Given the description of an element on the screen output the (x, y) to click on. 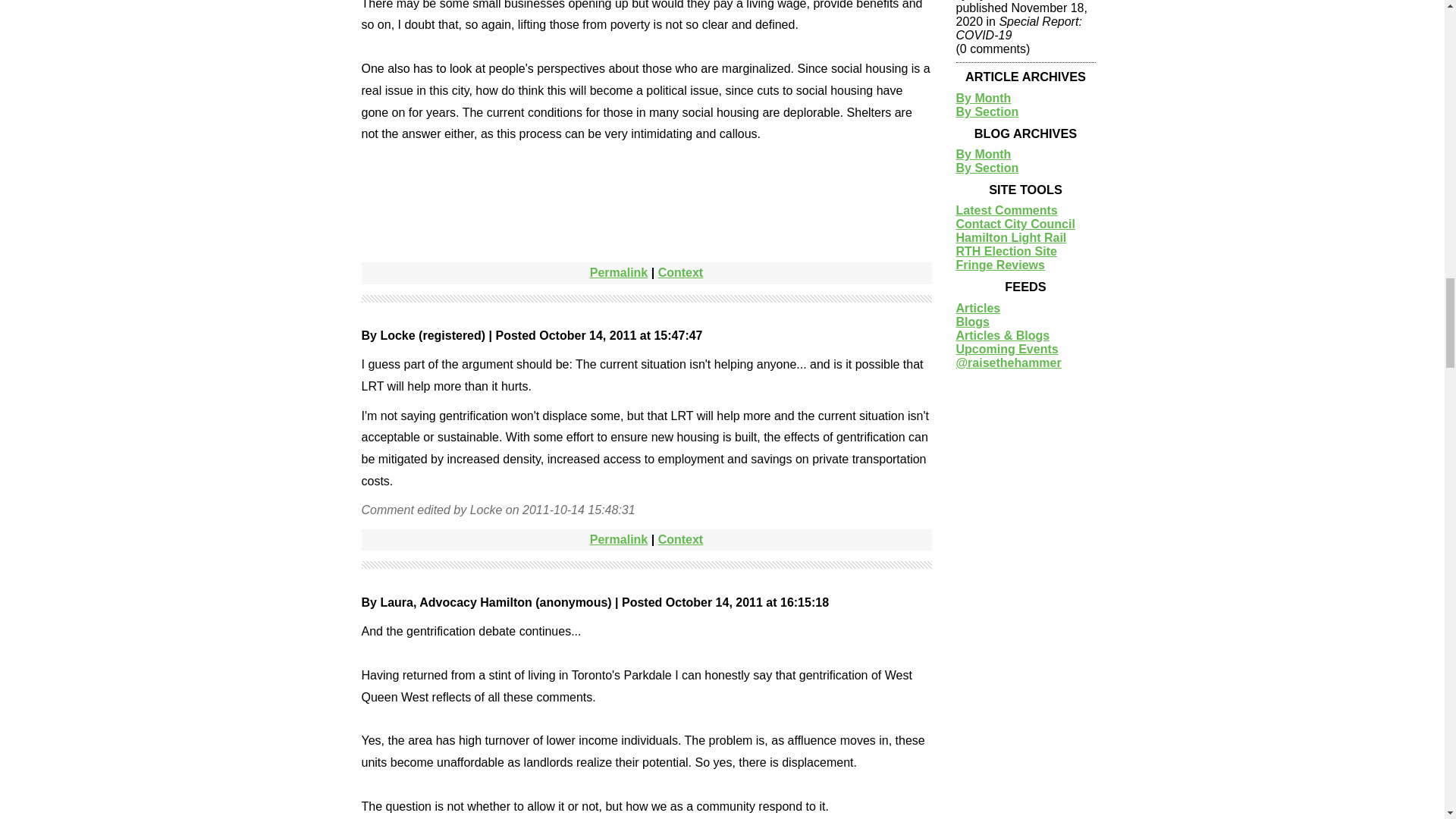
Context (680, 272)
Permalink (618, 272)
Permalink (618, 539)
Link to this comment in the comment thread (680, 272)
Context (680, 539)
Permanent URL for this comment (618, 272)
